Given the description of an element on the screen output the (x, y) to click on. 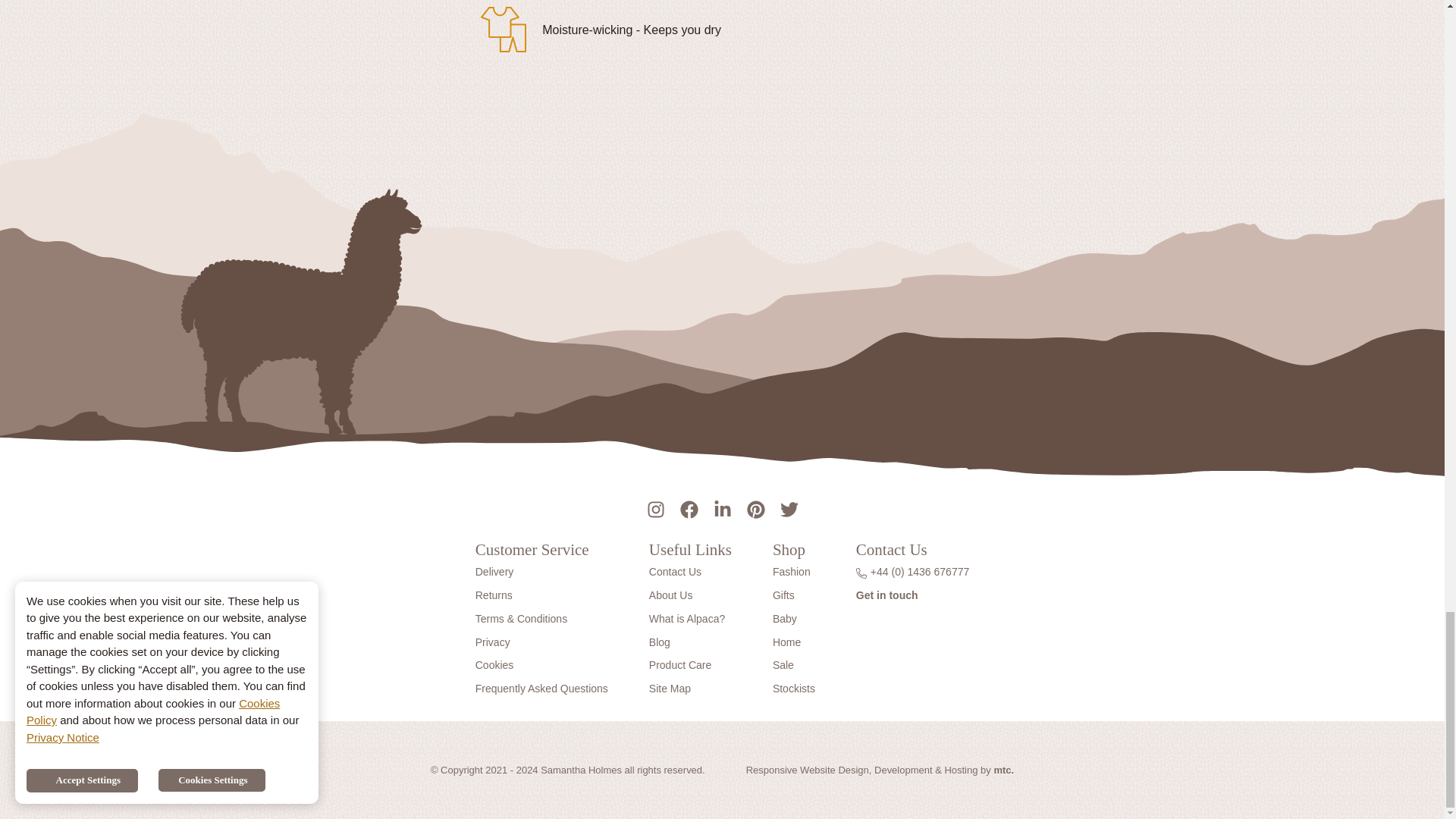
Follow us on Instagram (655, 507)
Follow us on Pinterest (754, 507)
Follow us on Twitter (788, 507)
Opens in a new window (1002, 769)
Follow us on Facebook (687, 507)
Follow us on LinkedIn (721, 507)
Opens in a new window (807, 769)
